Given the description of an element on the screen output the (x, y) to click on. 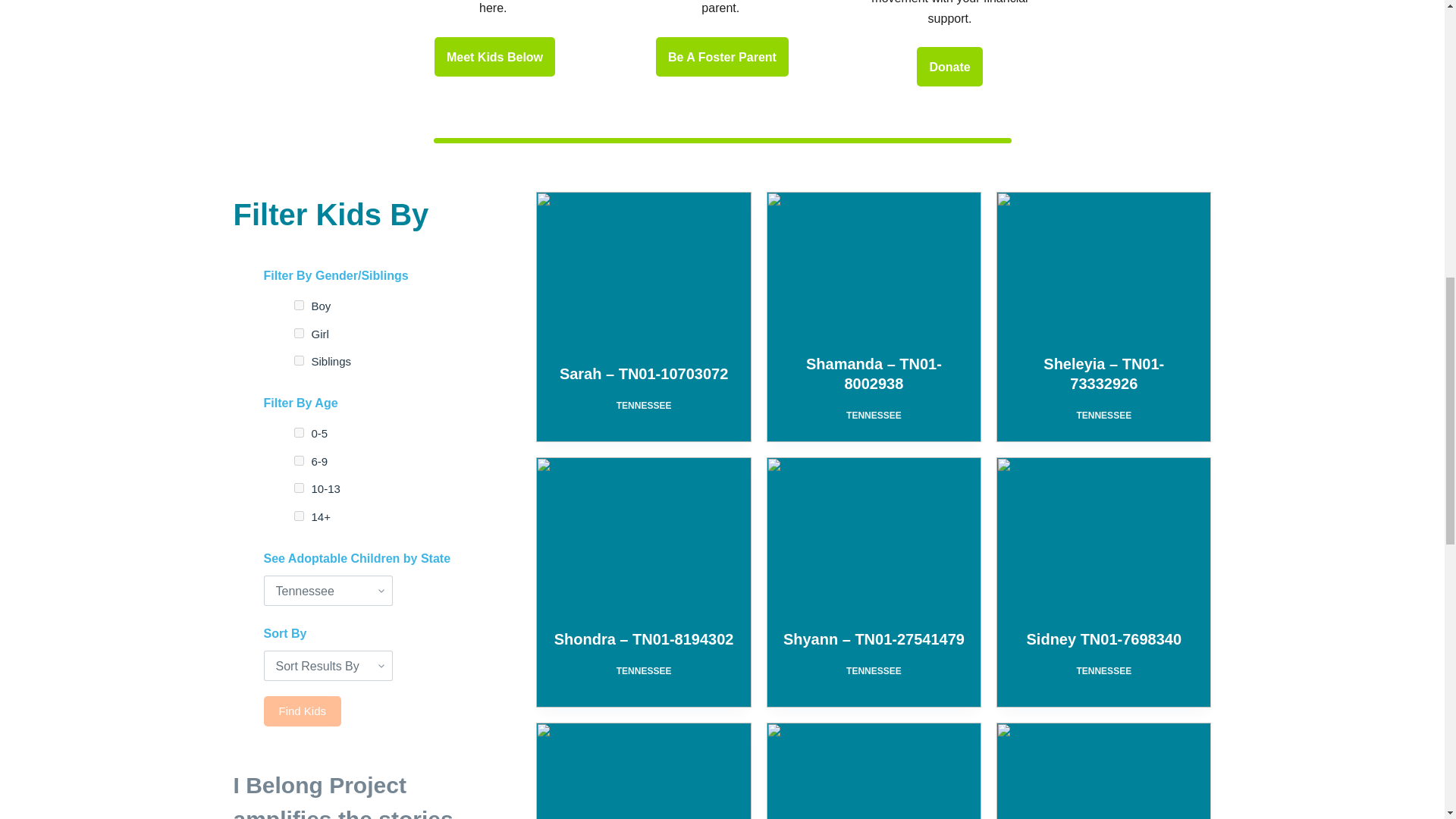
6-9 (299, 460)
boy (299, 305)
siblings (299, 360)
girl (299, 333)
10-13 (299, 488)
14 (299, 515)
0-5 (299, 432)
Be A Foster Parent (493, 56)
Foster Friendly Movement (949, 66)
Find Kids (302, 711)
